Given the description of an element on the screen output the (x, y) to click on. 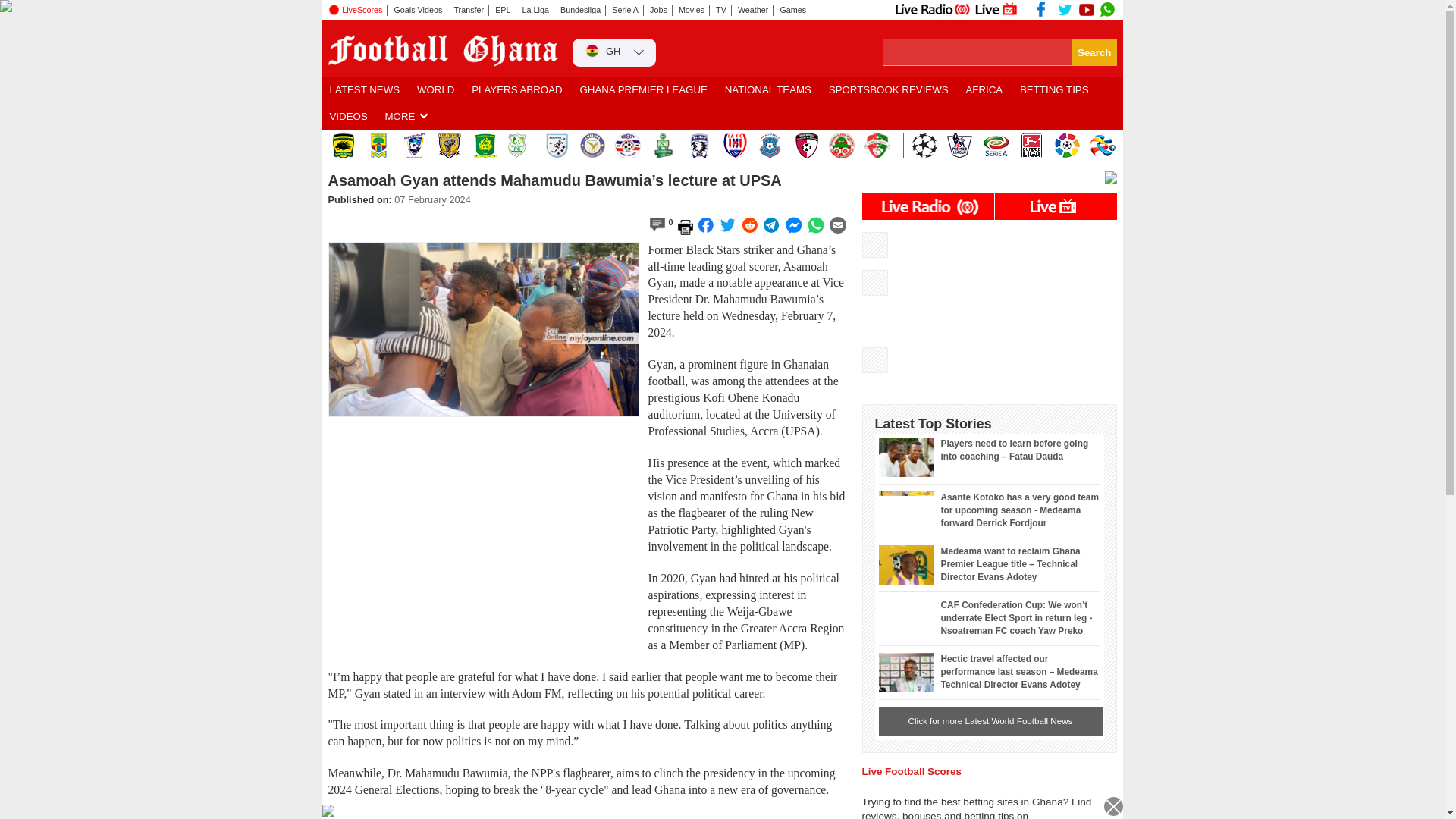
WORLD (435, 90)
LATEST NEWS (363, 90)
Movies (692, 9)
Search (1093, 52)
LiveScores (357, 9)
Championship (959, 145)
Accra Hearts of Oak (378, 145)
Transfer (468, 9)
Search (1093, 52)
Weather (753, 9)
